Given the description of an element on the screen output the (x, y) to click on. 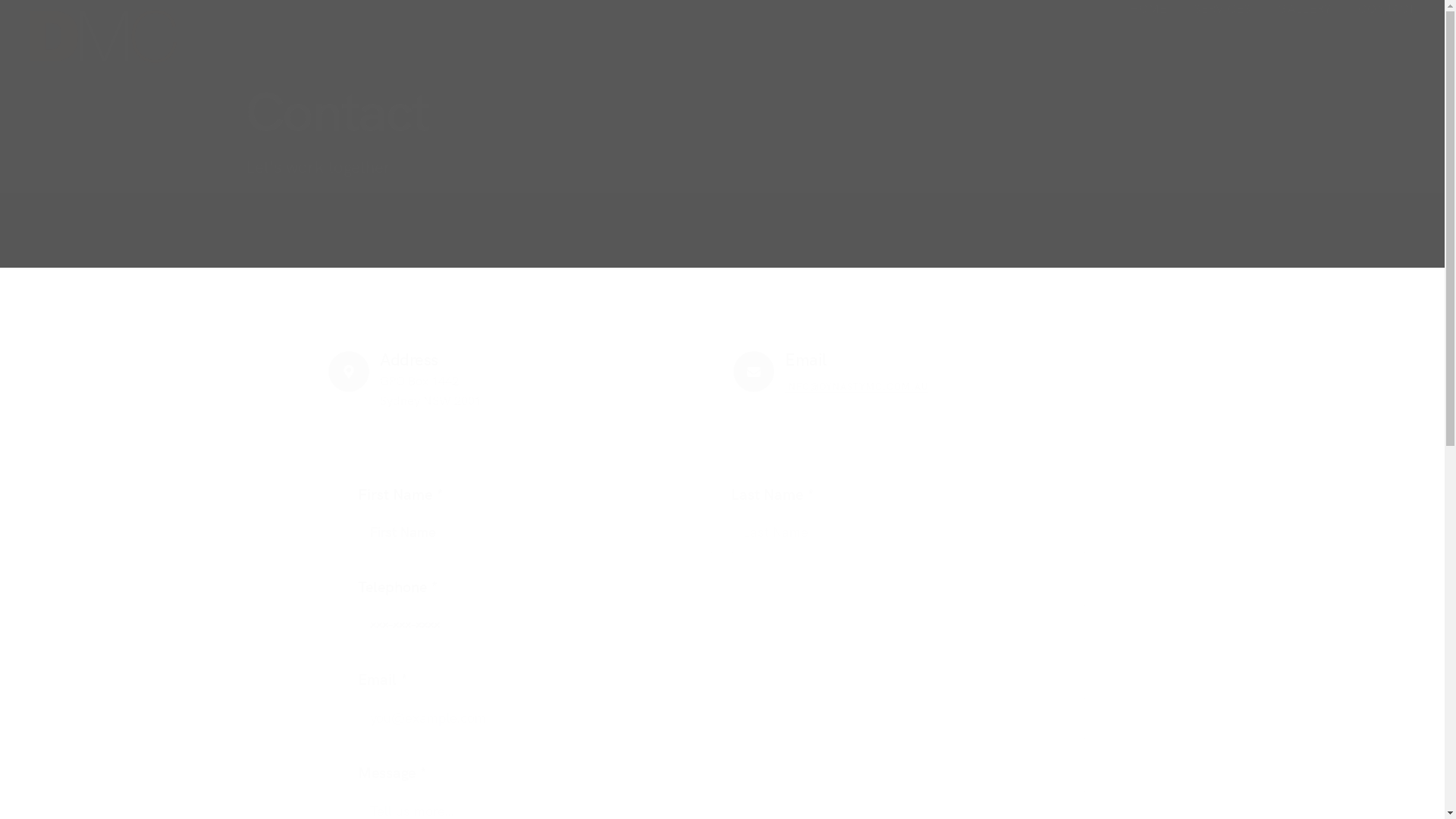
INFO@DYNASTYMC.COM.AU Element type: text (856, 384)
GALLERY Element type: text (1304, 7)
HOME Element type: text (1148, 7)
CONTACT Element type: text (1386, 7)
SERVICES Element type: text (1222, 7)
